Given the description of an element on the screen output the (x, y) to click on. 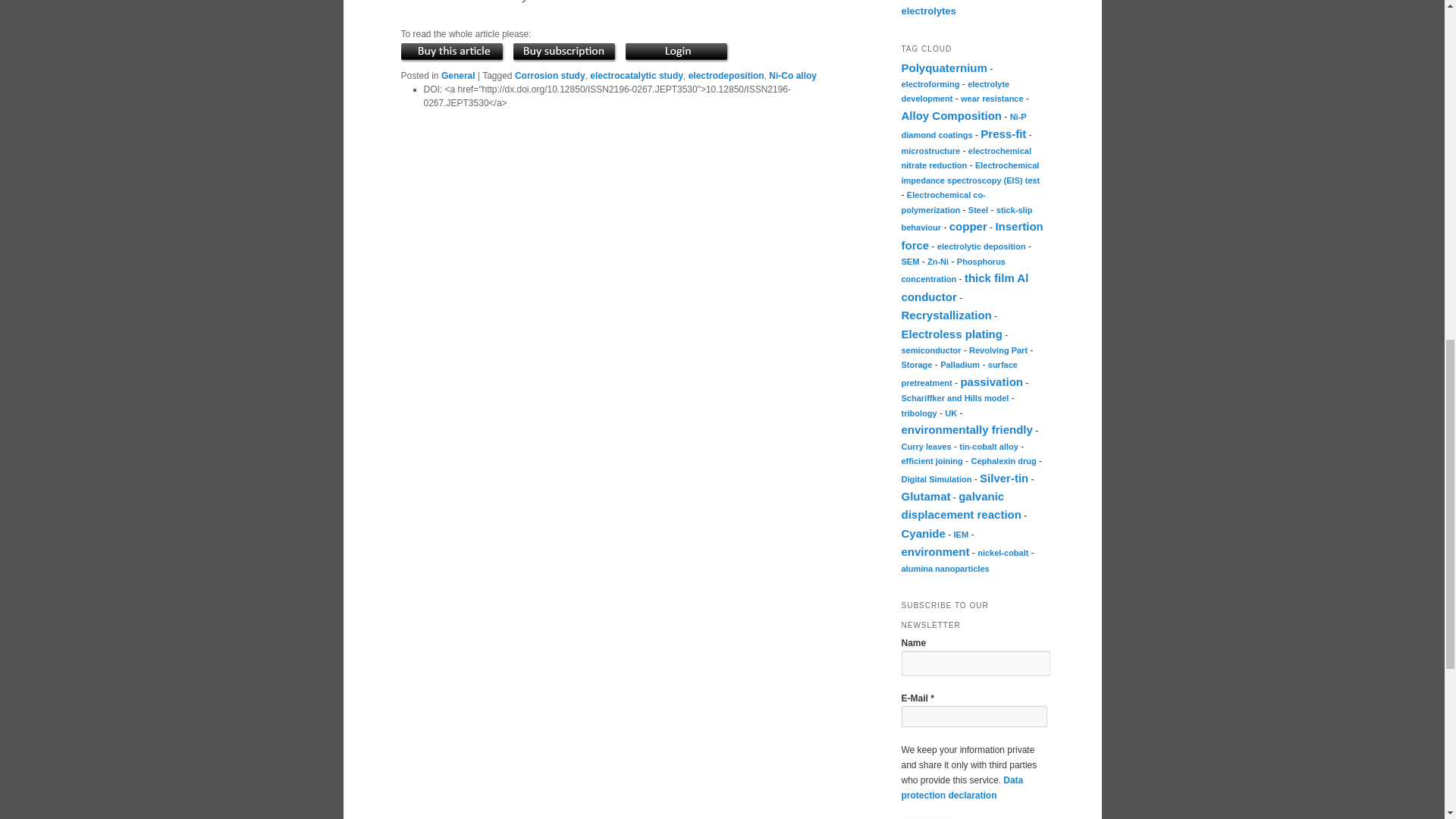
Ni-P diamond coatings (963, 125)
Subscribe (928, 818)
electrodeposition (726, 75)
Press-fit (1002, 133)
wear resistance (991, 98)
0 topics (965, 158)
1 topic (951, 115)
0 topics (963, 125)
1 topic (944, 67)
Corrosion study (550, 75)
Alloy Composition (951, 115)
electrolyte development (955, 91)
0 topics (930, 83)
0 topics (930, 150)
0 topics (955, 91)
